Given the description of an element on the screen output the (x, y) to click on. 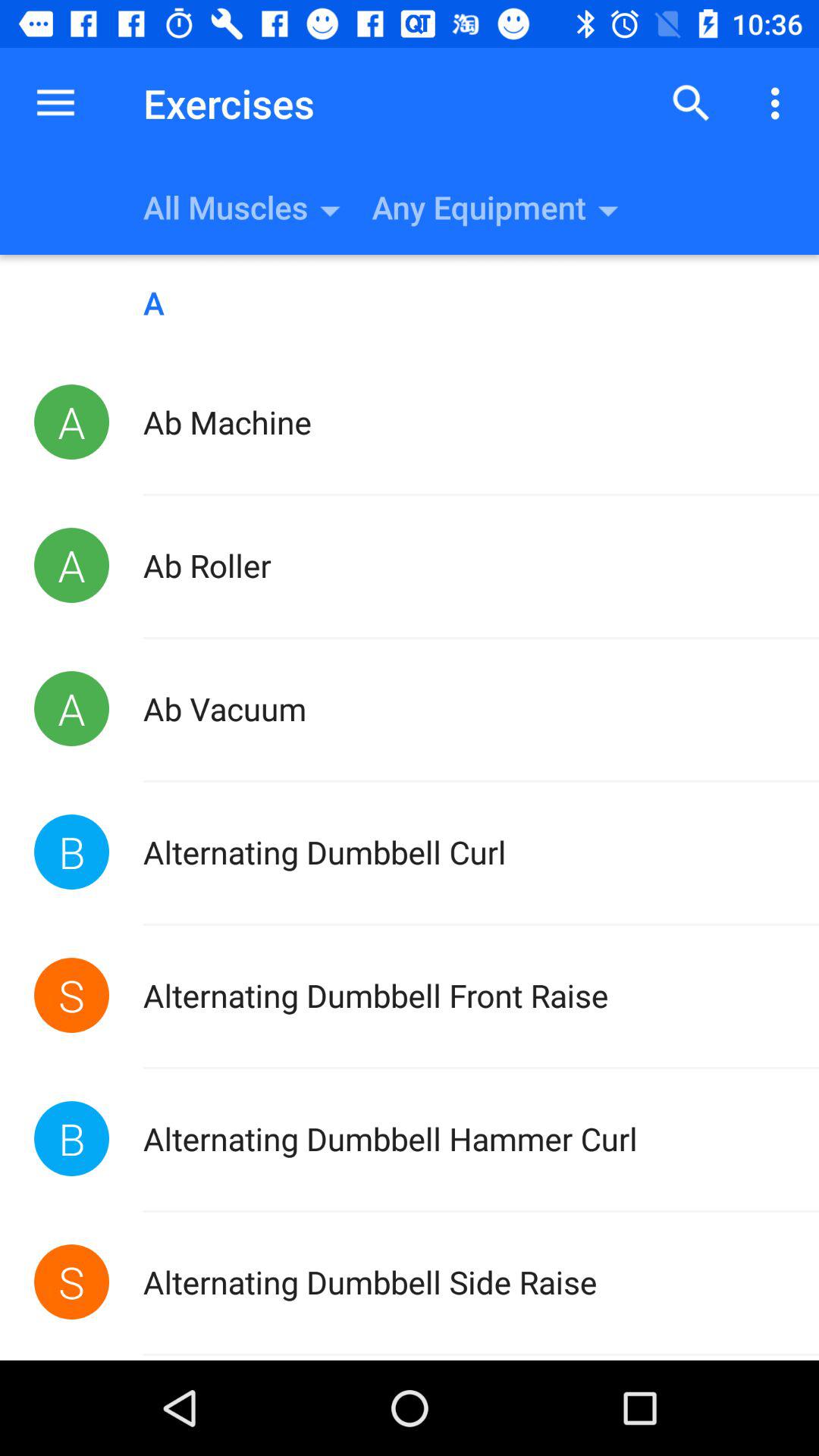
press the item above the a (691, 103)
